Given the description of an element on the screen output the (x, y) to click on. 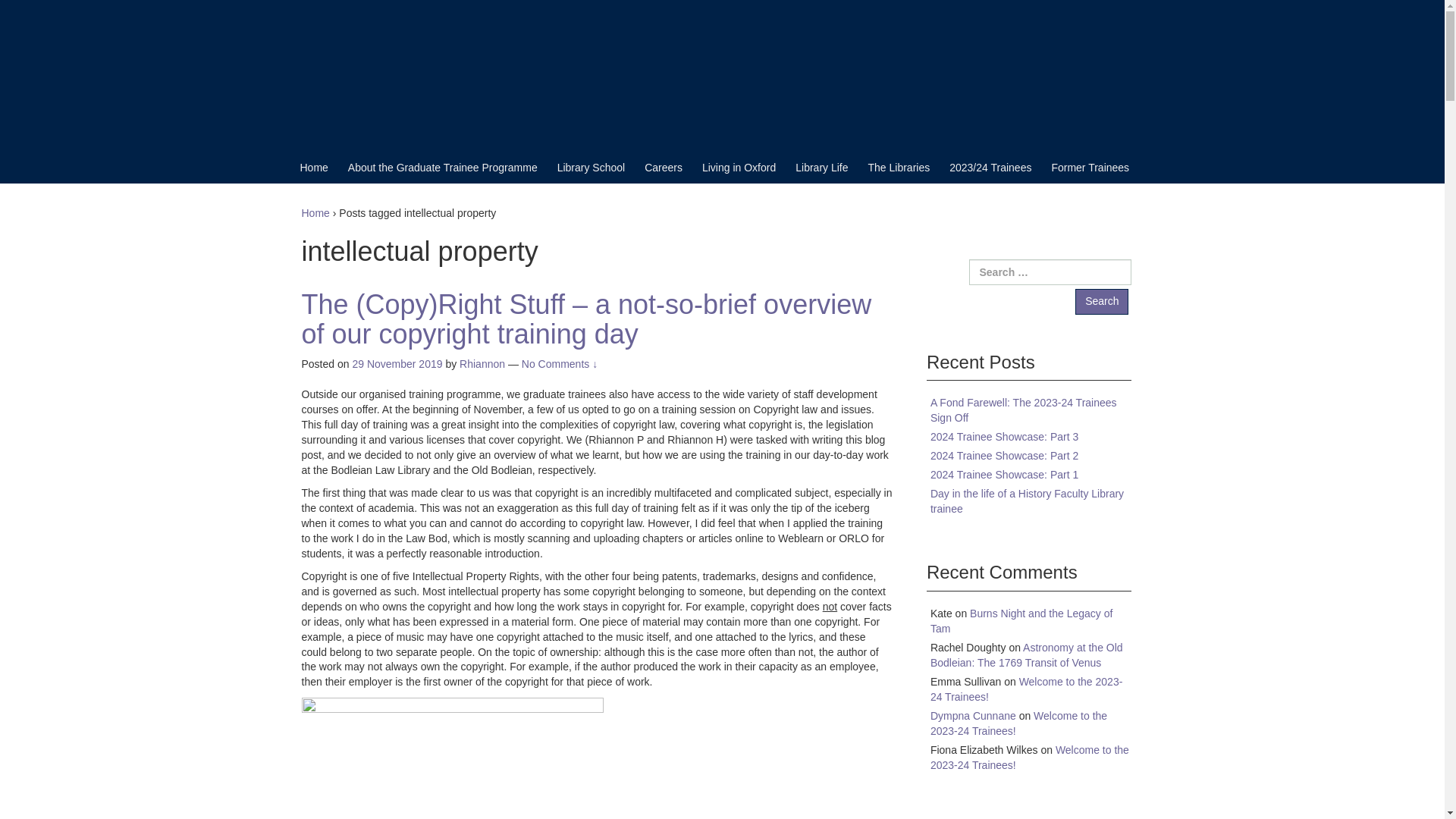
Home (314, 167)
The Libraries (898, 167)
Search (1101, 301)
Skip to main menu (43, 7)
Careers (663, 167)
Skip to content (34, 7)
View all posts by Rhiannon (482, 363)
Library Life (820, 167)
2:42 pm (397, 363)
About the Graduate Trainee Programme (442, 167)
